Given the description of an element on the screen output the (x, y) to click on. 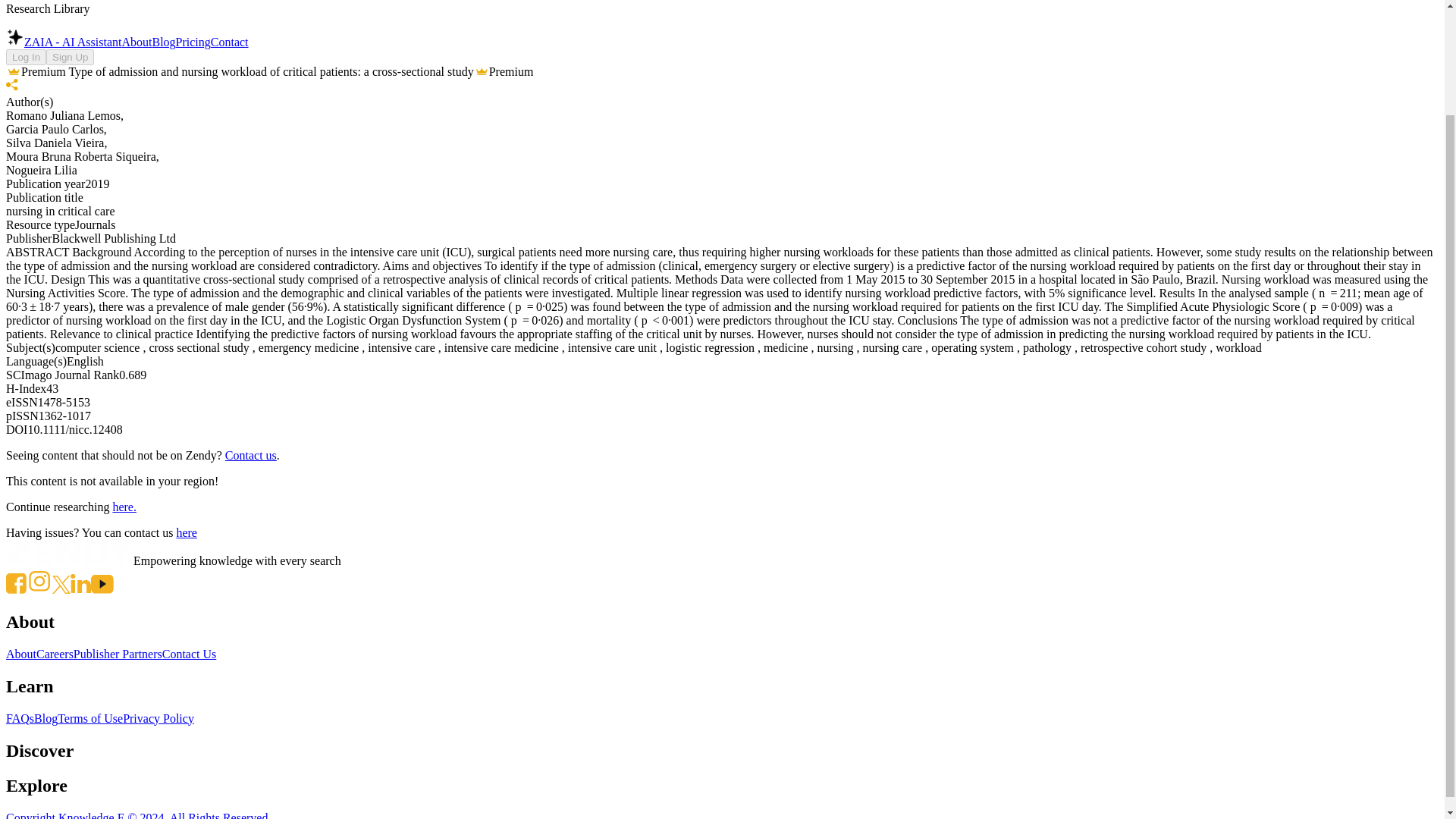
Terms of Use (90, 717)
FAQs (19, 717)
Careers (55, 653)
Contact Us (188, 653)
Pricing (193, 42)
About (135, 42)
ZAIA - AI Assistant (62, 42)
Contact (229, 42)
Contact us (250, 454)
Log In (25, 57)
